Given the description of an element on the screen output the (x, y) to click on. 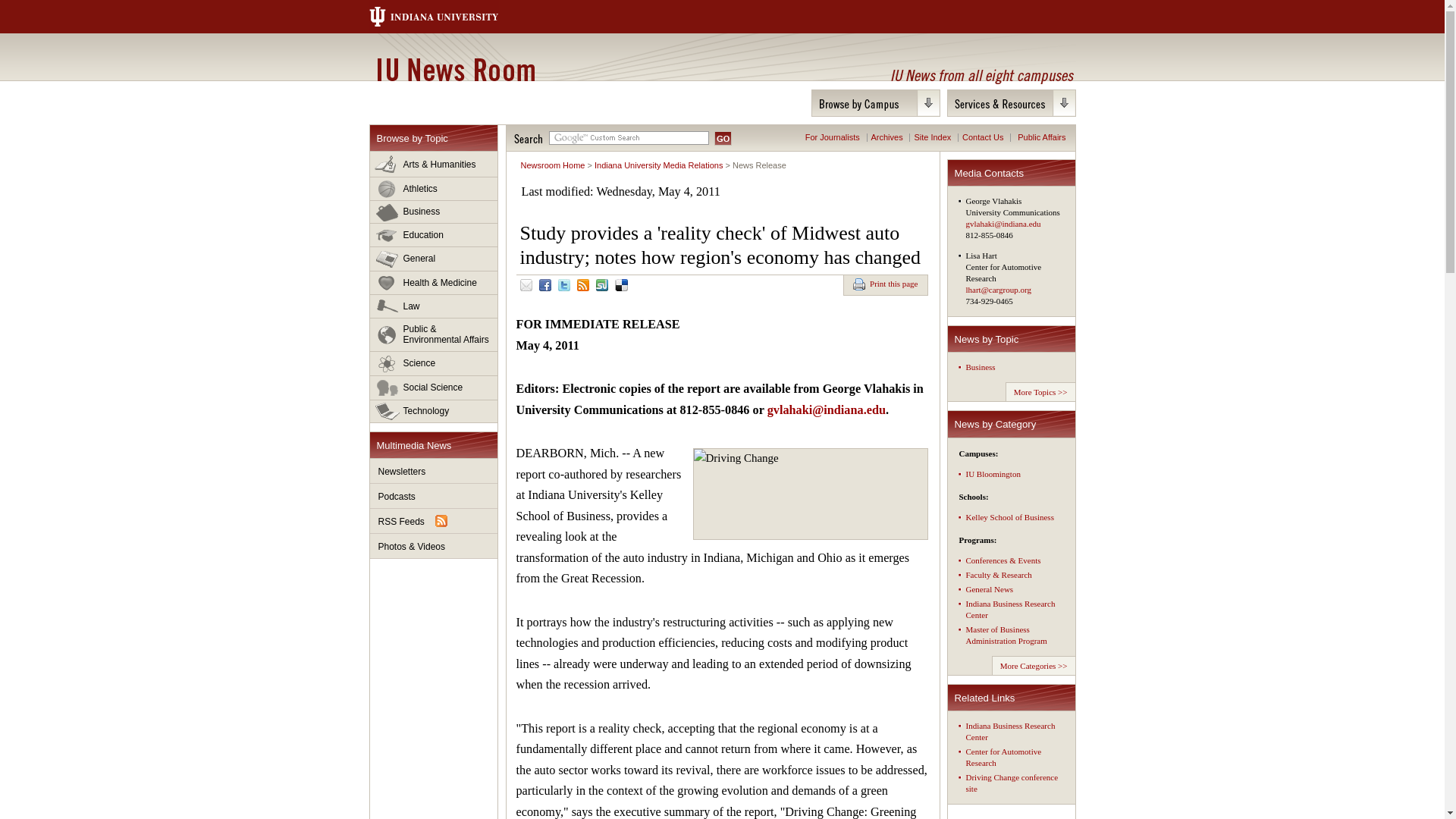
Athletics (433, 188)
Technology (433, 411)
Education (433, 235)
Science (433, 363)
General (433, 259)
Newsletters (433, 471)
Athletics (433, 188)
Education (433, 235)
General (433, 259)
Business (433, 211)
